Given the description of an element on the screen output the (x, y) to click on. 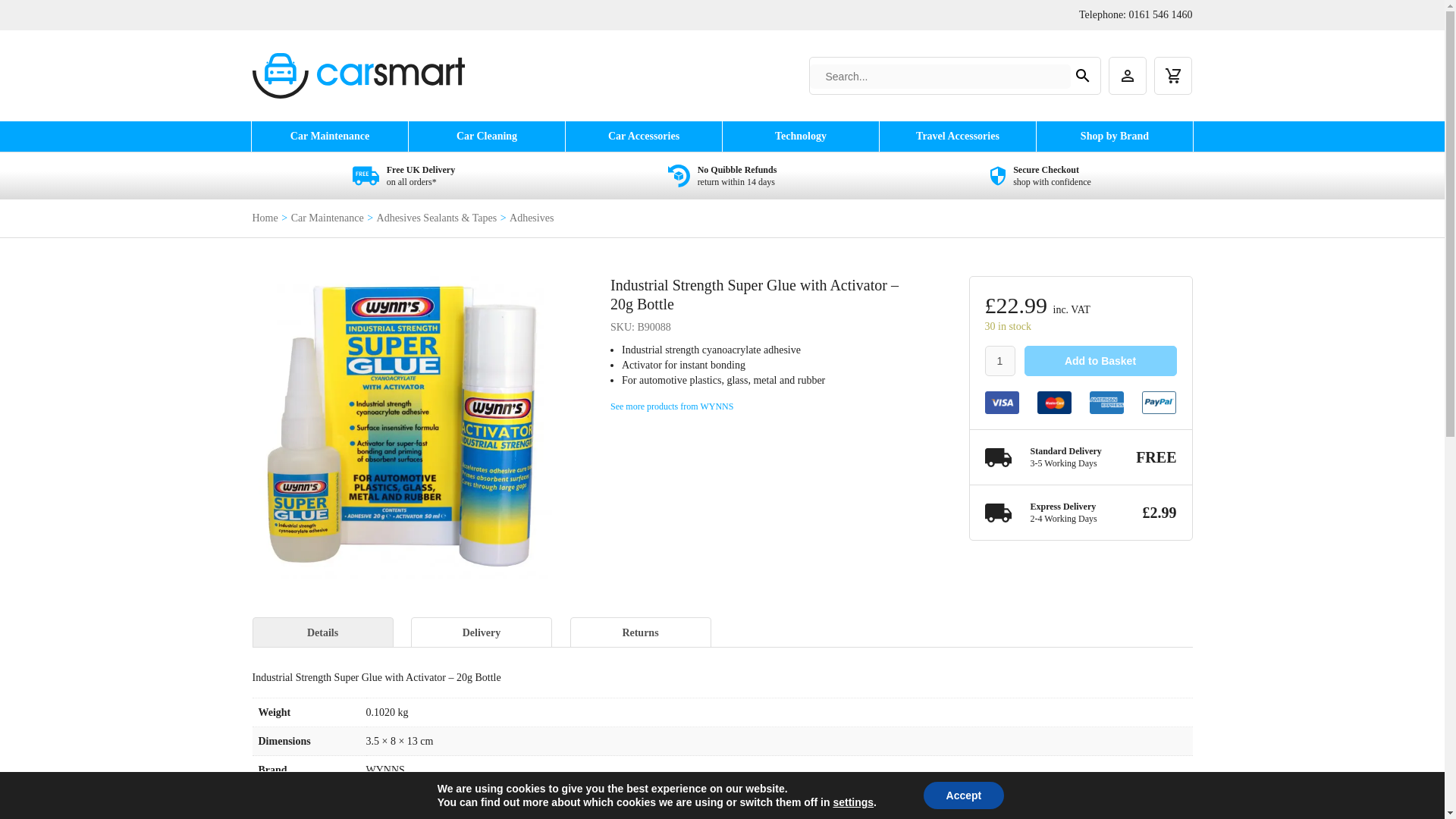
1 (999, 360)
Car Maintenance (329, 136)
